Given the description of an element on the screen output the (x, y) to click on. 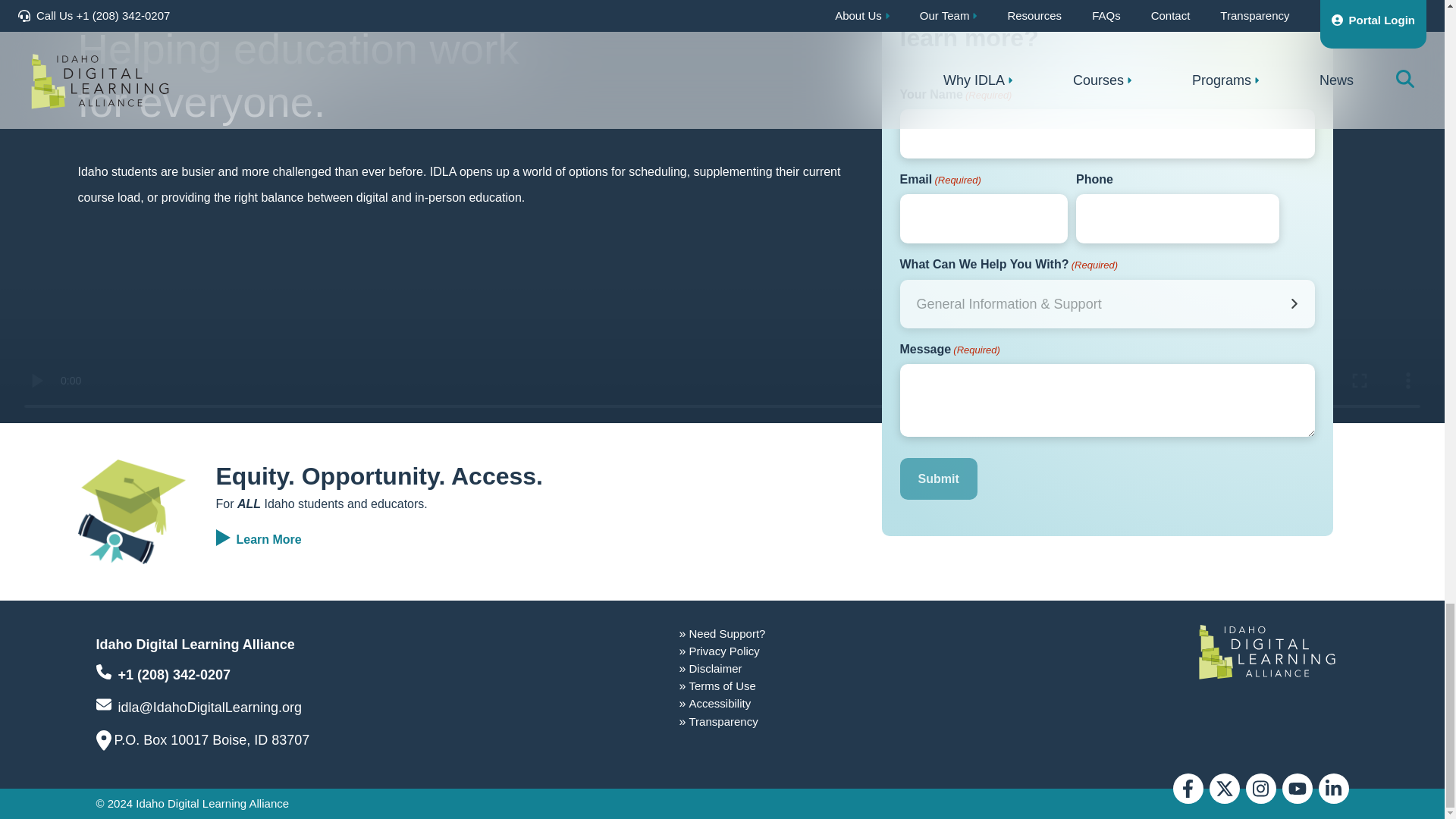
Idaho Digital Learning Alliance Twitter (1223, 788)
Idaho Digital Learning Alliance YouTube (1296, 788)
Idaho Digital Learning Alliance Instagram (1259, 788)
Idaho Digital Learning Alliance Facebook (1187, 788)
Submit (937, 478)
Idaho Digital Learning Alliance LinkedIn (1332, 788)
